Given the description of an element on the screen output the (x, y) to click on. 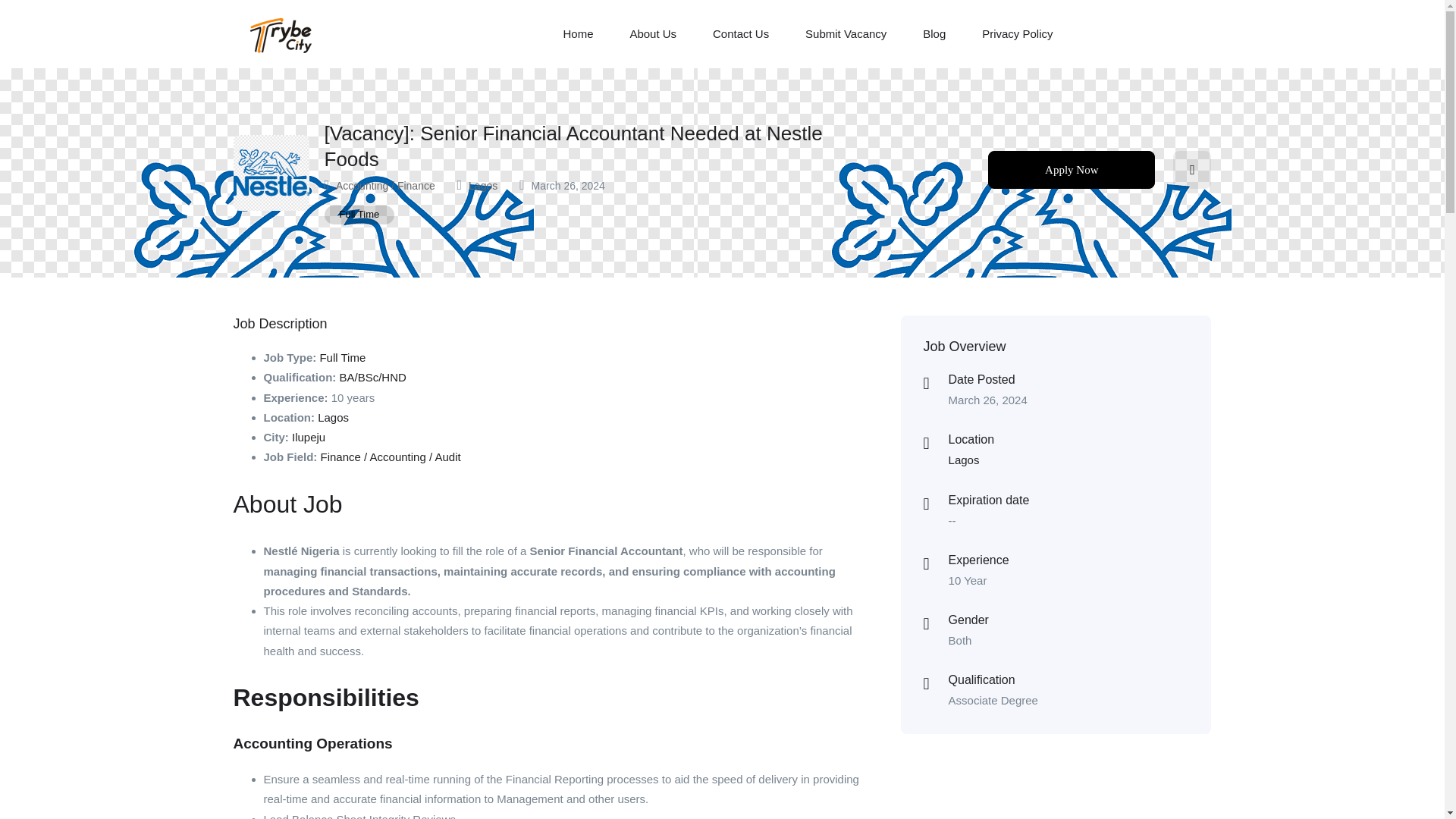
Submit Vacancy (845, 34)
Apply Now (1071, 169)
Lagos (333, 417)
Contact Us (740, 34)
Privacy Policy (1016, 34)
About Us (652, 34)
Full Time (359, 214)
Lagos (482, 185)
Full Time (341, 357)
Ilupeju (308, 436)
